Given the description of an element on the screen output the (x, y) to click on. 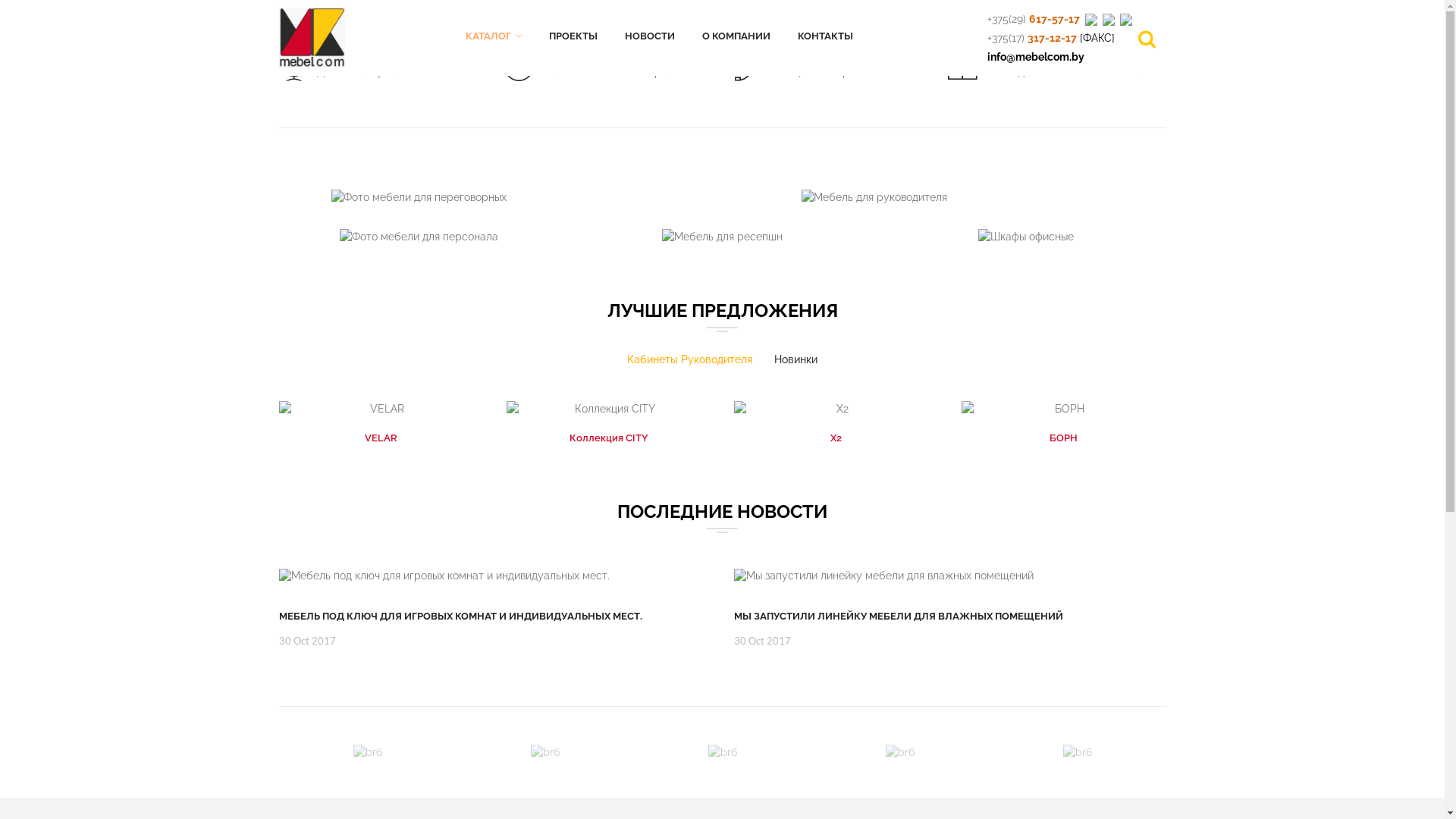
1 Element type: text (713, 691)
info@mebelcom.by Element type: text (1035, 56)
+375(17) 317-12-17 Element type: text (1031, 37)
2 Element type: text (731, 691)
VELAR Element type: hover (381, 408)
+375(29) 617-57-17 Element type: text (1033, 18)
X2 Element type: hover (836, 408)
